Given the description of an element on the screen output the (x, y) to click on. 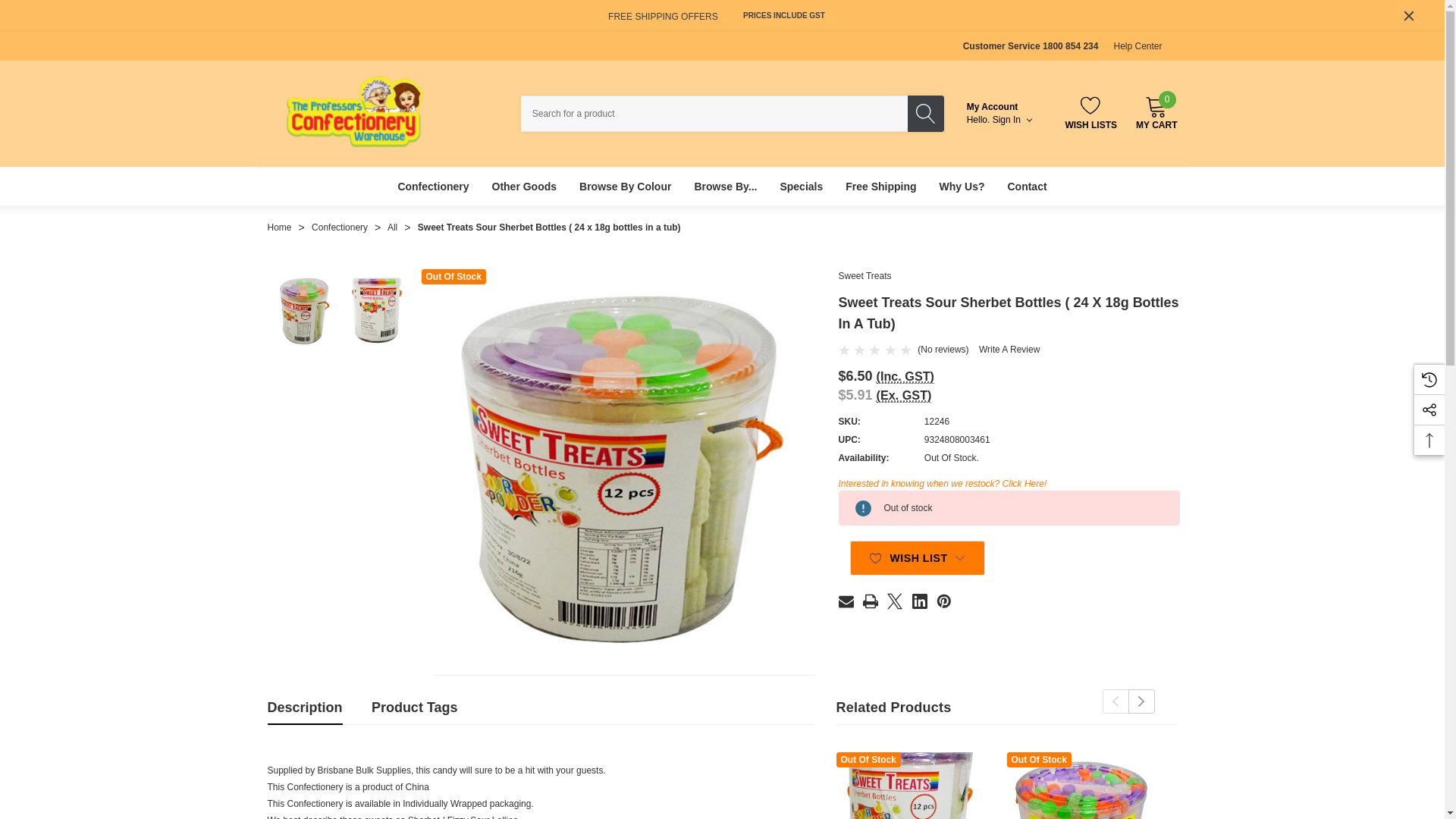
icon search (925, 113)
icon heart (875, 558)
Including Tax (905, 376)
Confectionery (432, 186)
The Professors Online Lolly Shop and Confectionery Warehouse (355, 111)
Sign In (1013, 119)
Customer Service 1800 854 234 (1030, 45)
Excluding Tax (903, 395)
WISH LISTS (1090, 112)
YOUR CART YOUR CART (1155, 106)
